Given the description of an element on the screen output the (x, y) to click on. 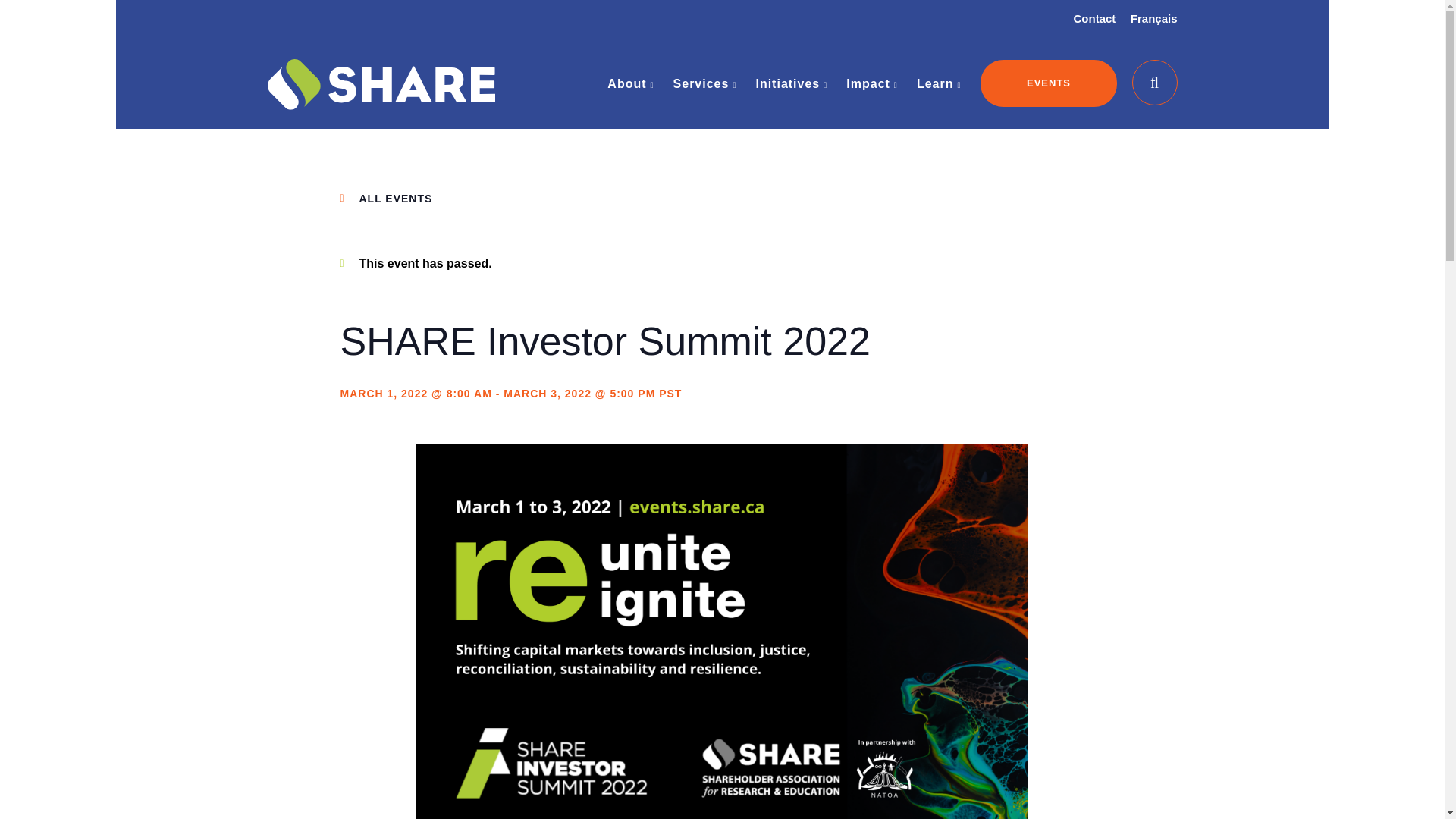
SHARE (380, 102)
Initiatives (791, 83)
Services (704, 83)
Impact (871, 83)
Learn (938, 83)
Contact (1095, 18)
EVENTS (1047, 83)
About (630, 83)
ALL EVENTS (395, 199)
